Given the description of an element on the screen output the (x, y) to click on. 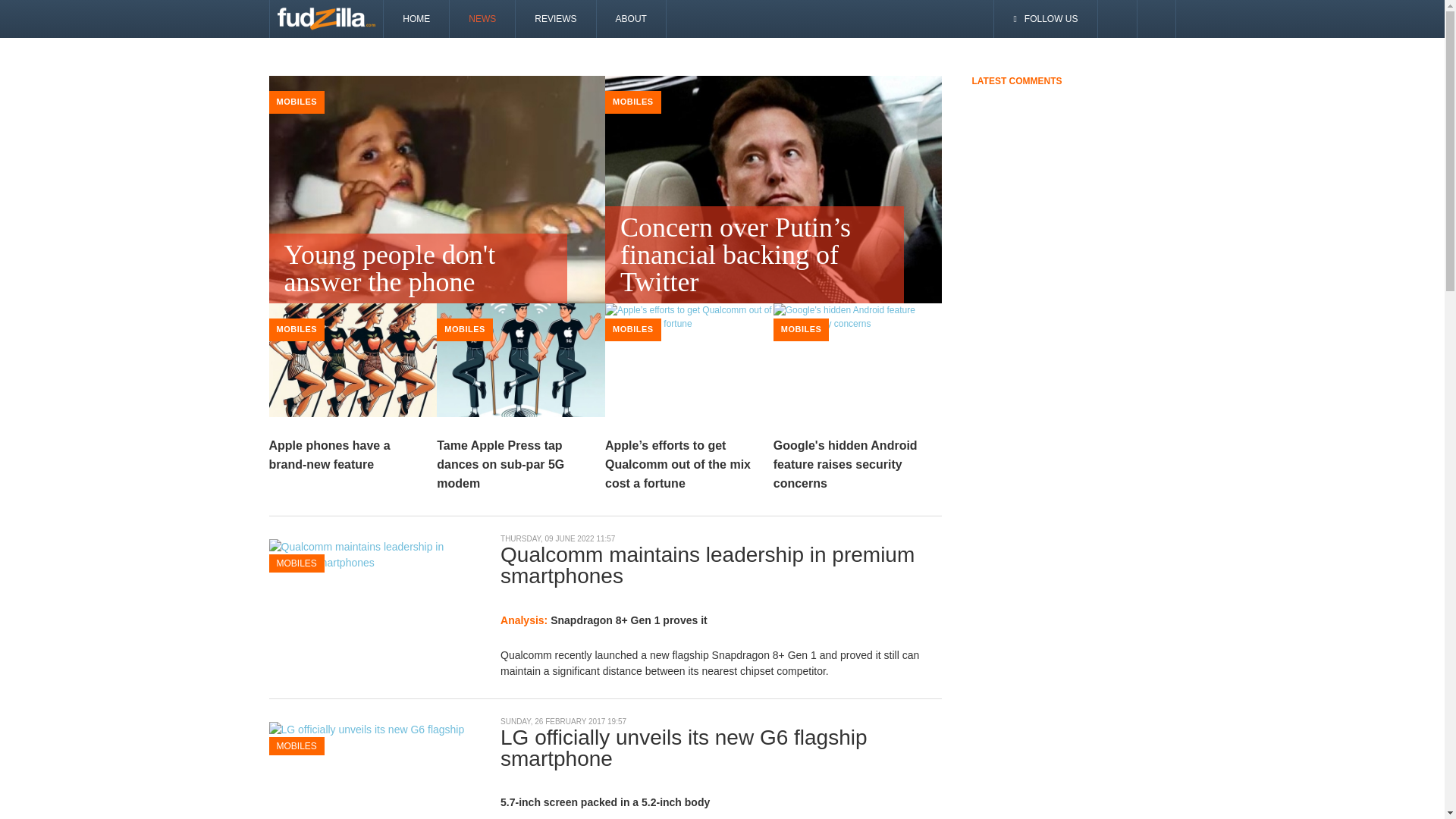
Qualcomm maintains leadership in premium smartphones (372, 553)
MOBILES (632, 101)
MOBILES (296, 101)
MOBILES (632, 328)
ABOUT (631, 18)
REVIEWS (555, 18)
Tame Apple Press tap dances on sub-par 5G modem (500, 463)
Continue reading "Young people don't answer the phone" (436, 200)
LG officially unveils its new G6 flagship smartphone (372, 736)
